Given the description of an element on the screen output the (x, y) to click on. 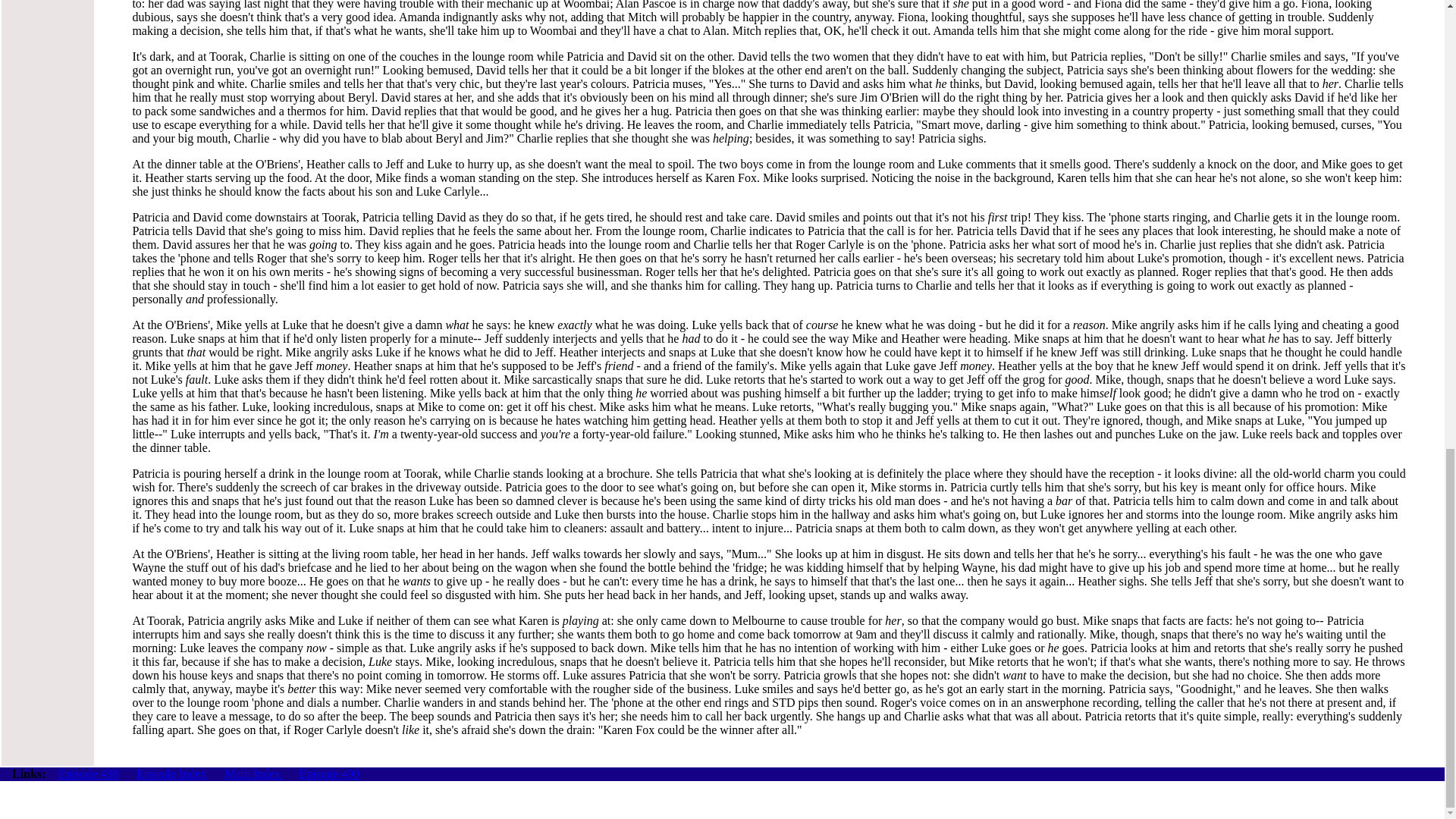
Episode Index (171, 773)
Episode 490 (328, 773)
Episode 488 (87, 773)
Main Index (253, 773)
